Given the description of an element on the screen output the (x, y) to click on. 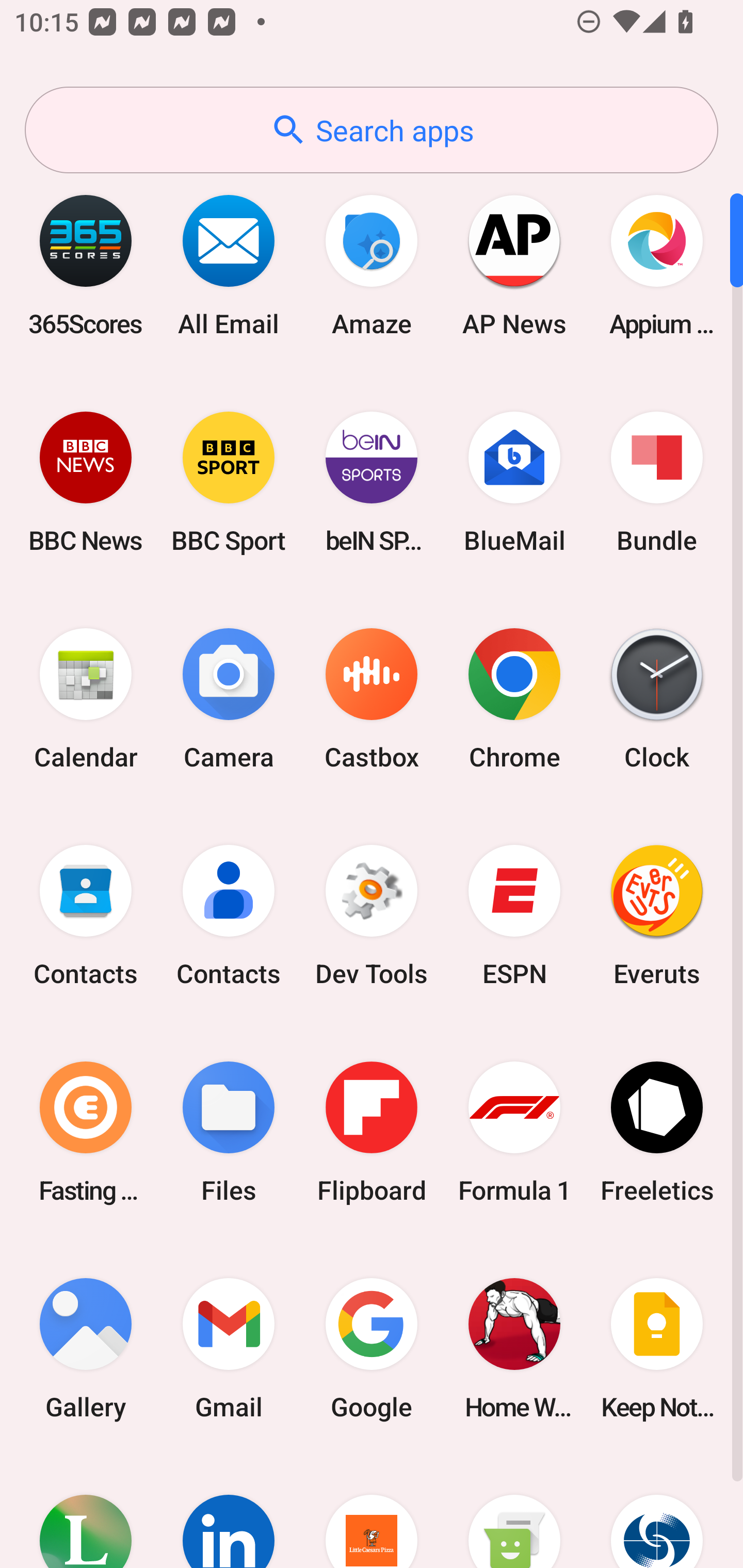
  Search apps (371, 130)
365Scores (85, 264)
All Email (228, 264)
Amaze (371, 264)
AP News (514, 264)
Appium Settings (656, 264)
BBC News (85, 482)
BBC Sport (228, 482)
beIN SPORTS (371, 482)
BlueMail (514, 482)
Bundle (656, 482)
Calendar (85, 699)
Camera (228, 699)
Castbox (371, 699)
Chrome (514, 699)
Clock (656, 699)
Contacts (85, 915)
Contacts (228, 915)
Dev Tools (371, 915)
ESPN (514, 915)
Everuts (656, 915)
Fasting Coach (85, 1131)
Files (228, 1131)
Flipboard (371, 1131)
Formula 1 (514, 1131)
Freeletics (656, 1131)
Gallery (85, 1348)
Gmail (228, 1348)
Google (371, 1348)
Home Workout (514, 1348)
Keep Notes (656, 1348)
